Given the description of an element on the screen output the (x, y) to click on. 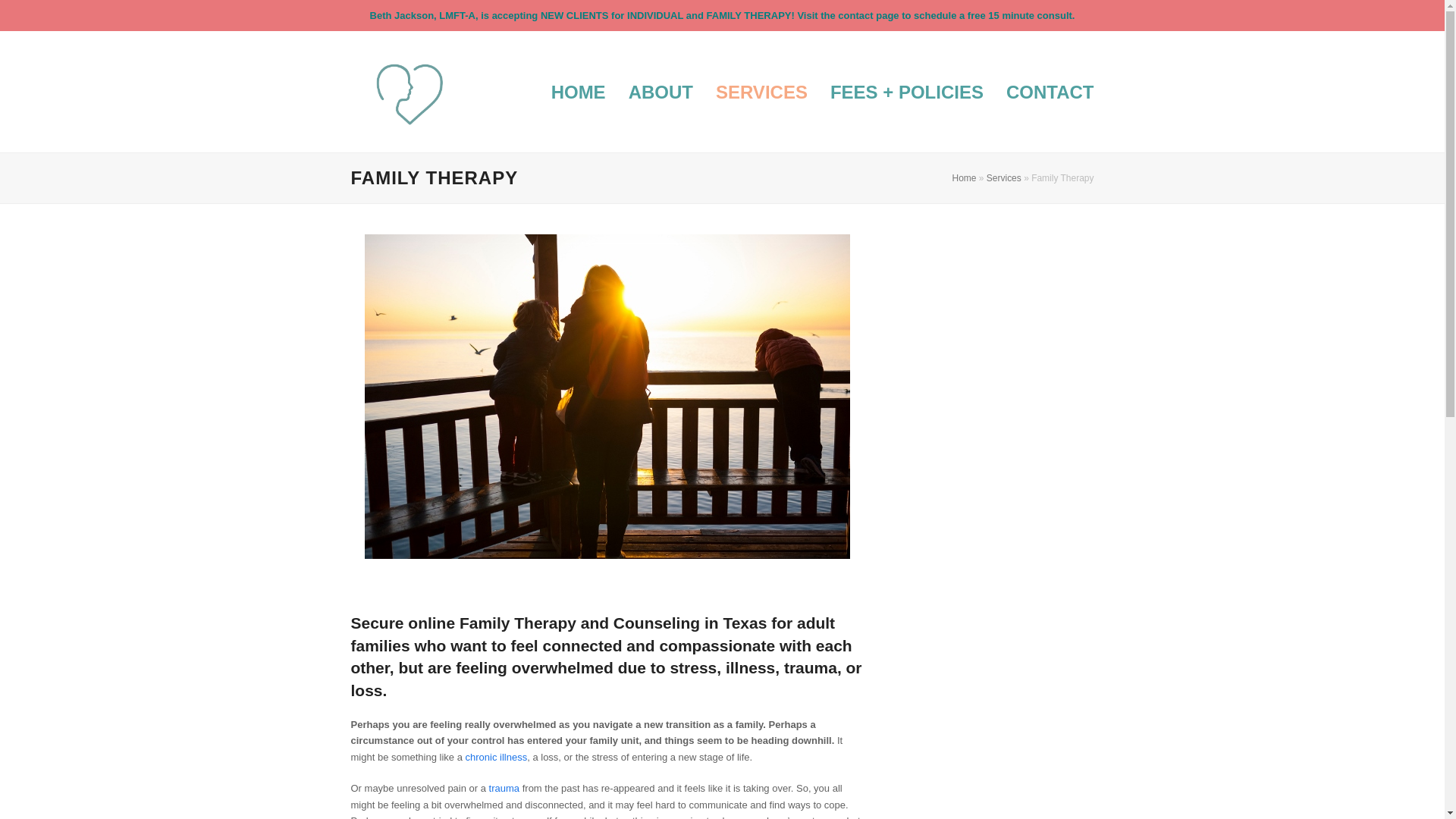
HOME (578, 91)
SERVICES (761, 91)
ABOUT (660, 91)
chronic illness (496, 756)
Home (964, 177)
trauma (504, 787)
Services (1004, 177)
CONTACT (1049, 91)
